Given the description of an element on the screen output the (x, y) to click on. 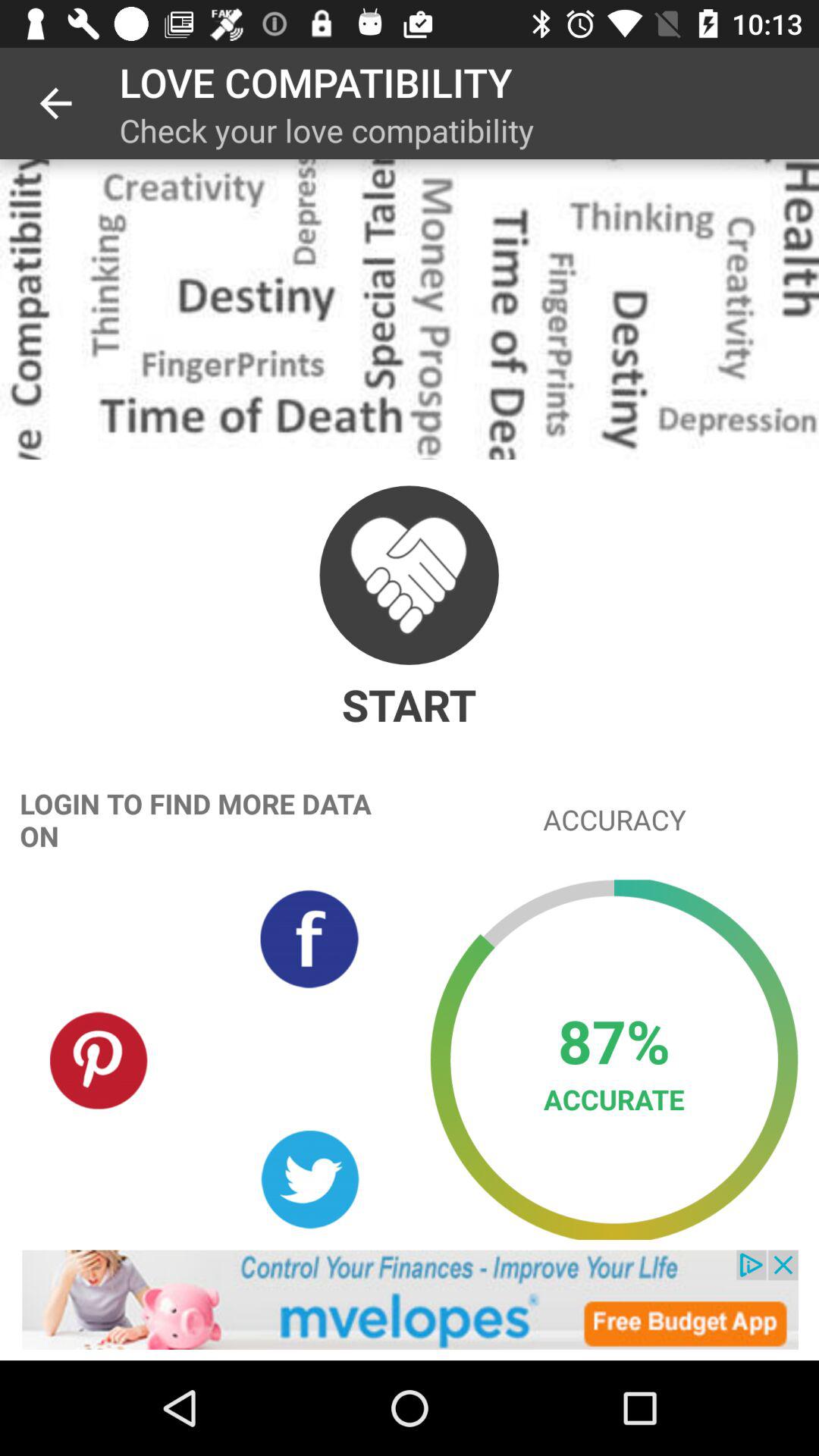
advertisements image (409, 1299)
